Given the description of an element on the screen output the (x, y) to click on. 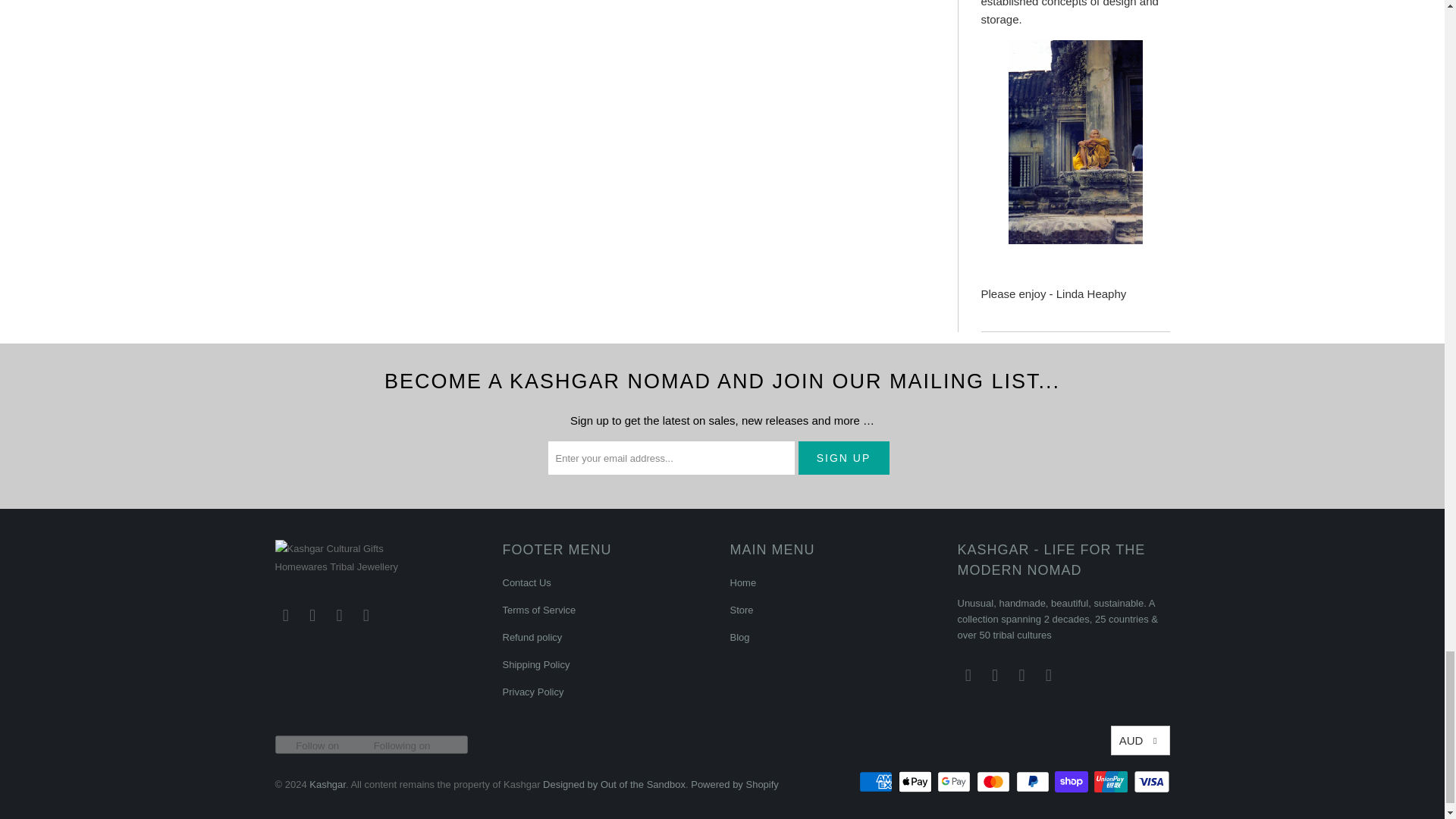
Apple Pay (916, 781)
Mastercard (994, 781)
Visa (1150, 781)
American Express (877, 781)
Union Pay (1112, 781)
Shop Pay (1072, 781)
Google Pay (955, 781)
Sign Up (842, 458)
PayPal (1034, 781)
